Given the description of an element on the screen output the (x, y) to click on. 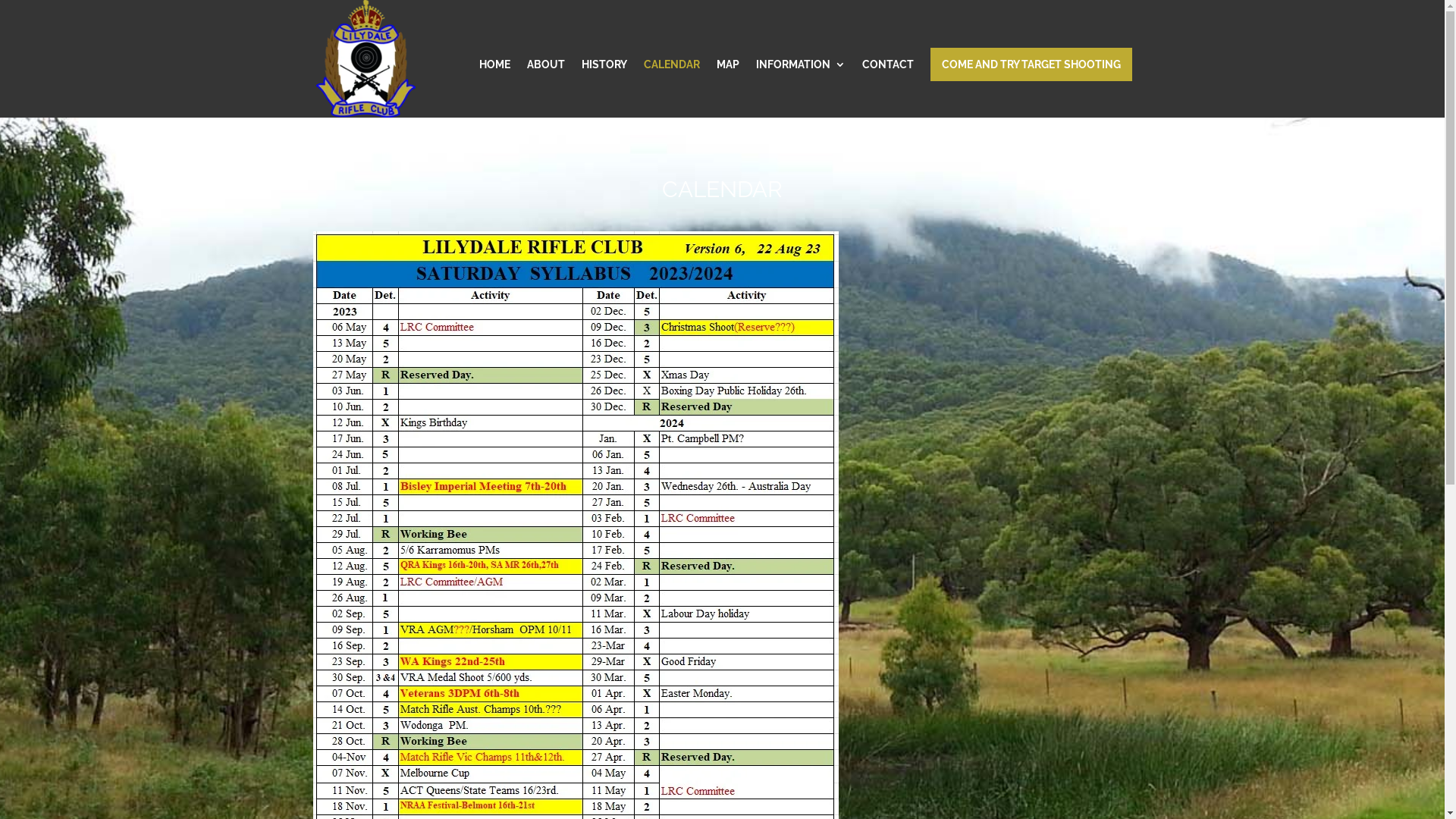
INFORMATION Element type: text (799, 88)
HISTORY Element type: text (603, 88)
CALENDAR Element type: text (671, 88)
MAP Element type: text (726, 88)
CONTACT Element type: text (887, 88)
HOME Element type: text (494, 88)
COME AND TRY TARGET SHOOTING Element type: text (1030, 64)
ABOUT Element type: text (545, 88)
